Given the description of an element on the screen output the (x, y) to click on. 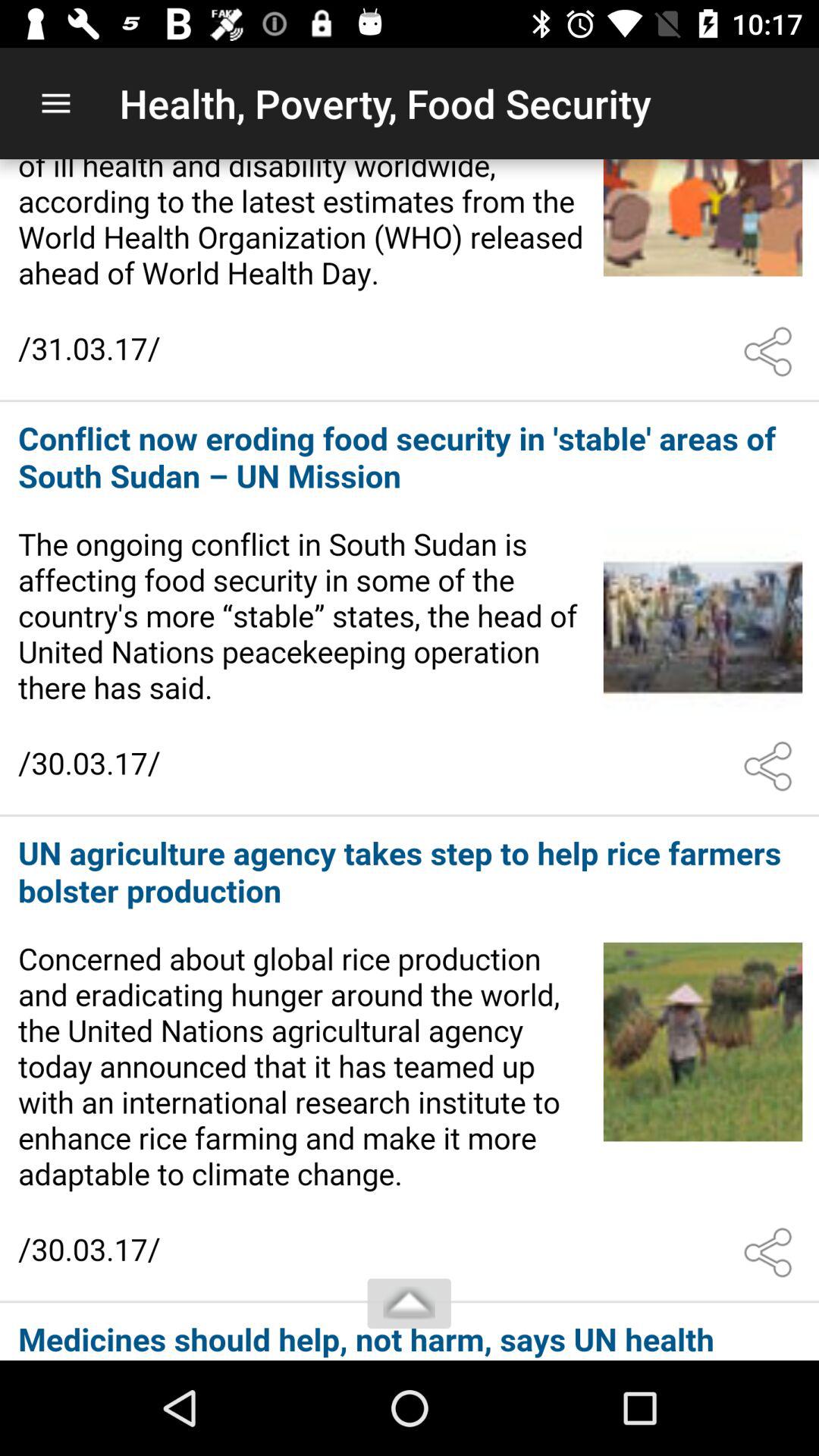
news sharing symbol (771, 351)
